Given the description of an element on the screen output the (x, y) to click on. 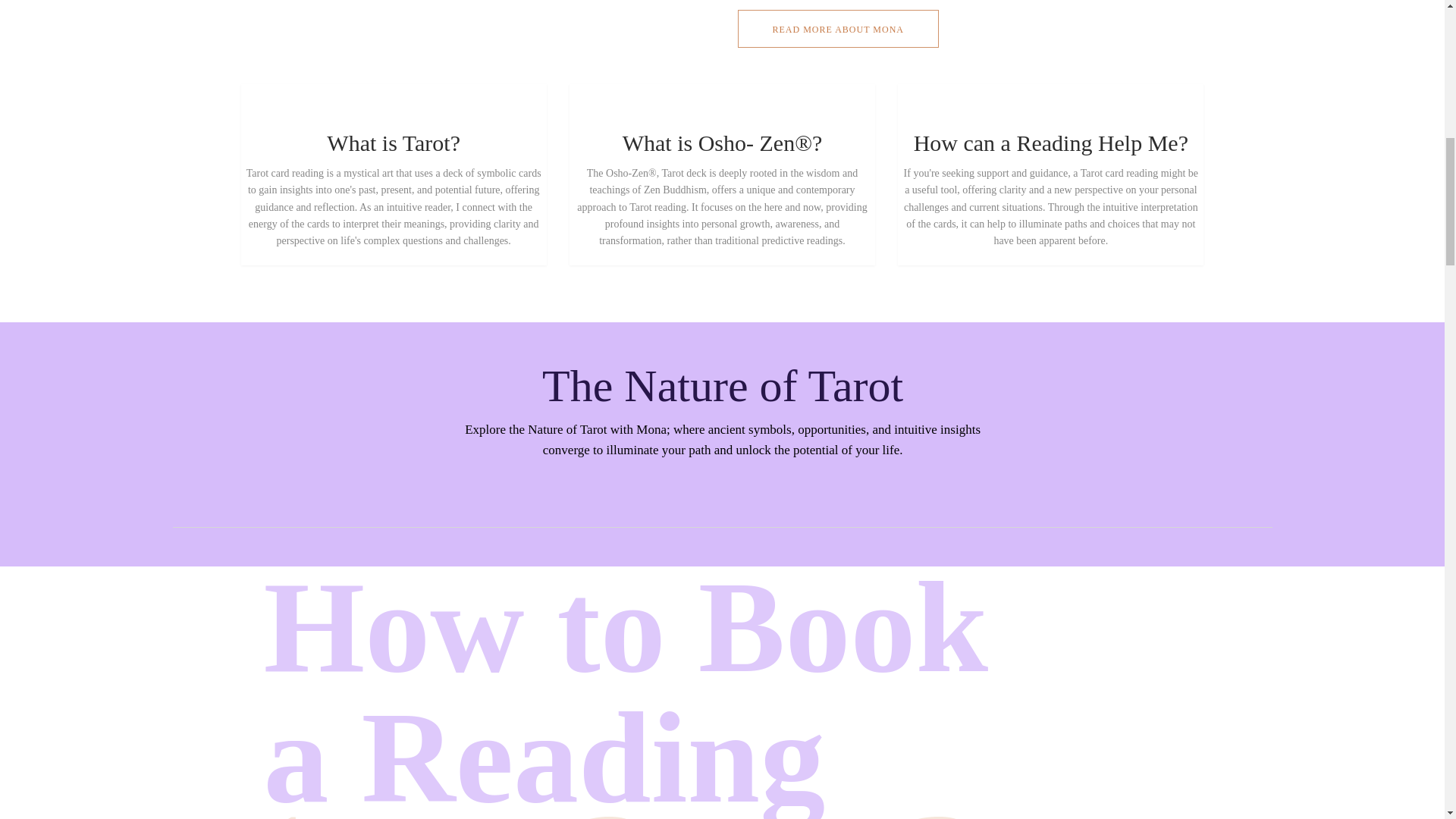
READ MORE ABOUT MONA (836, 28)
